Given the description of an element on the screen output the (x, y) to click on. 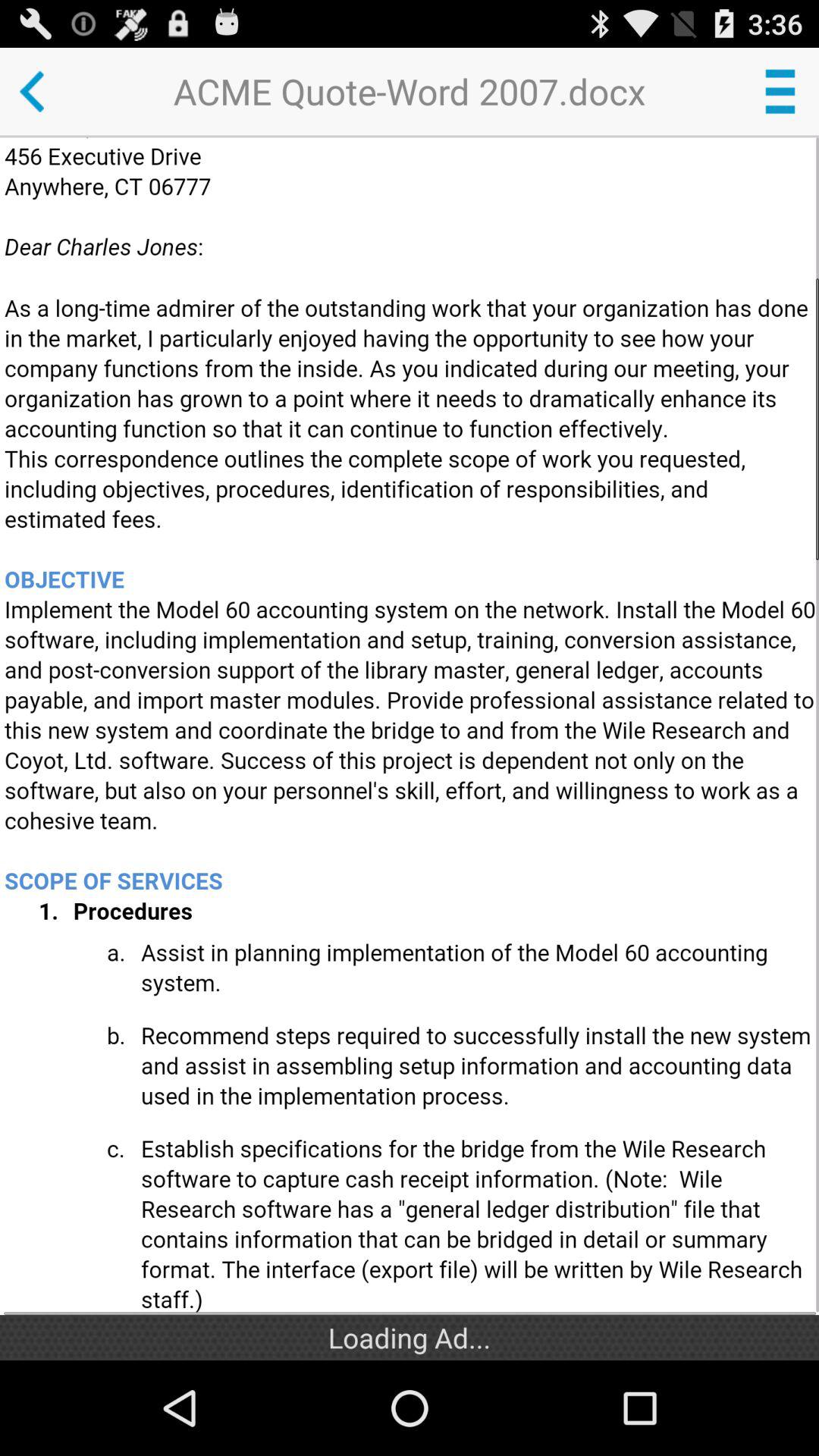
setting (779, 91)
